Given the description of an element on the screen output the (x, y) to click on. 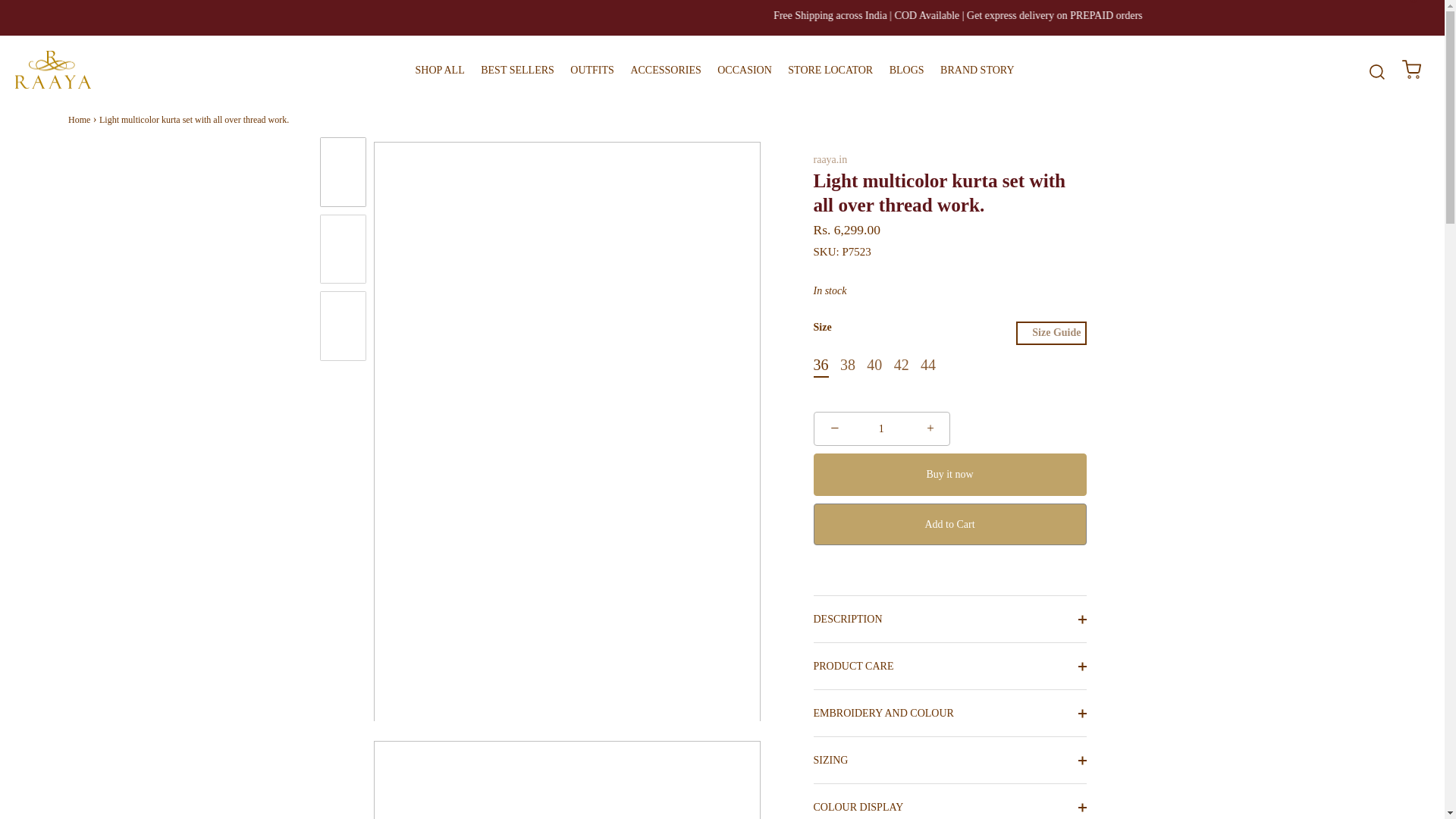
ACCESSORIES (665, 69)
BEST SELLERS (517, 69)
OUTFITS (592, 69)
Home (79, 119)
SHOP ALL (438, 69)
STORE LOCATOR (829, 69)
OCCASION (744, 69)
